Given the description of an element on the screen output the (x, y) to click on. 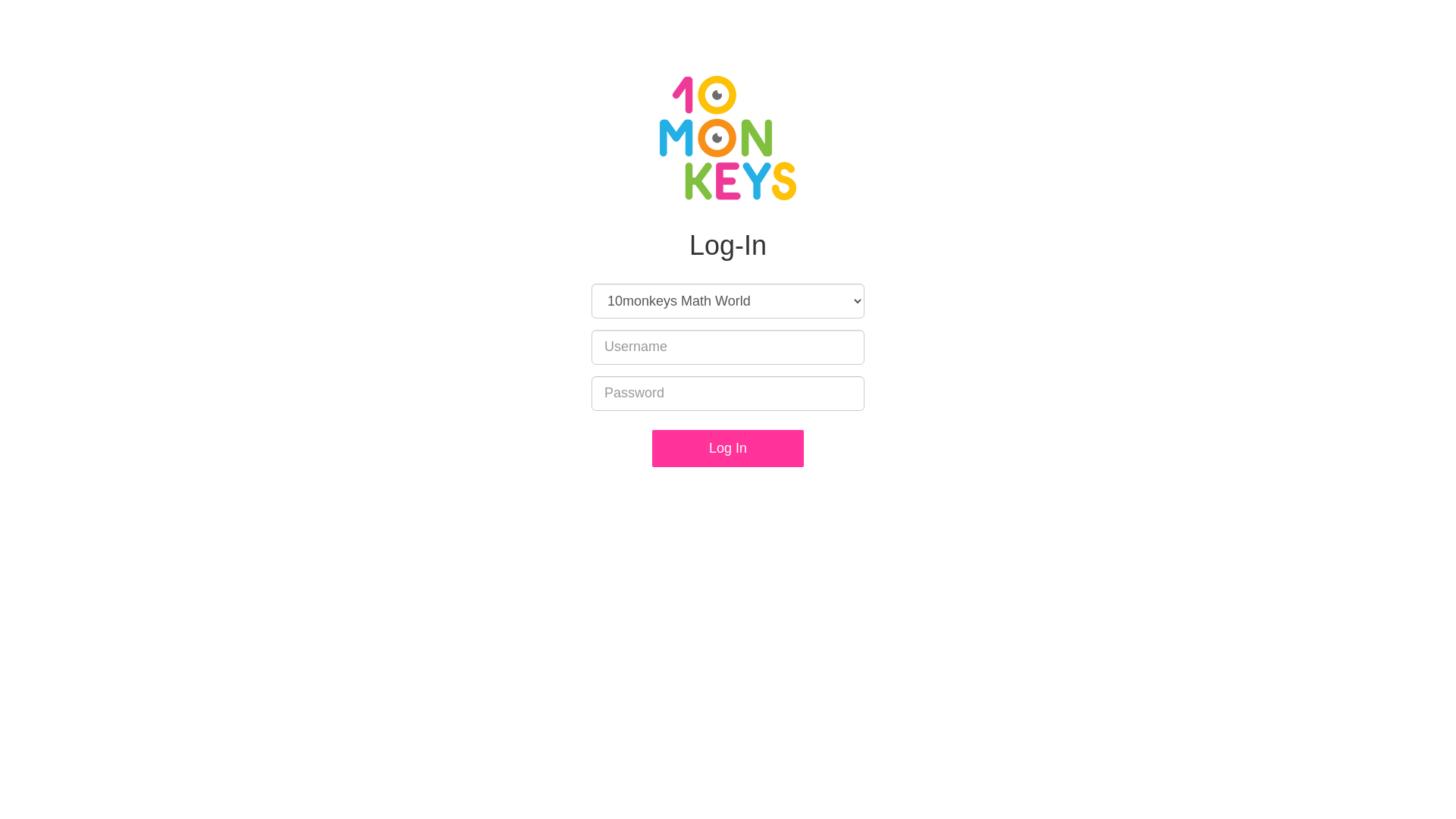
Log In Element type: text (727, 448)
